Given the description of an element on the screen output the (x, y) to click on. 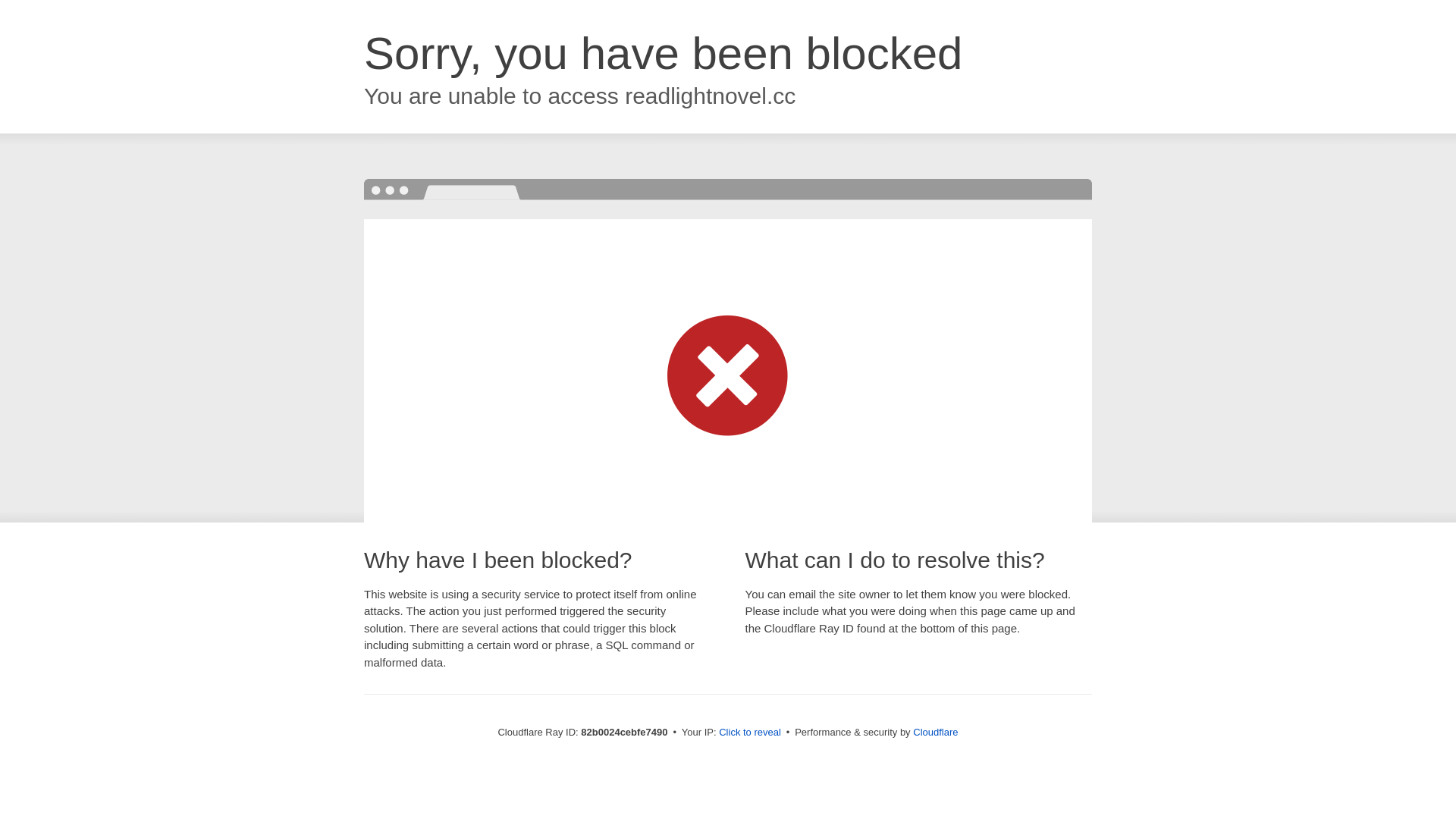
Cloudflare Element type: text (935, 731)
Click to reveal Element type: text (749, 732)
